Given the description of an element on the screen output the (x, y) to click on. 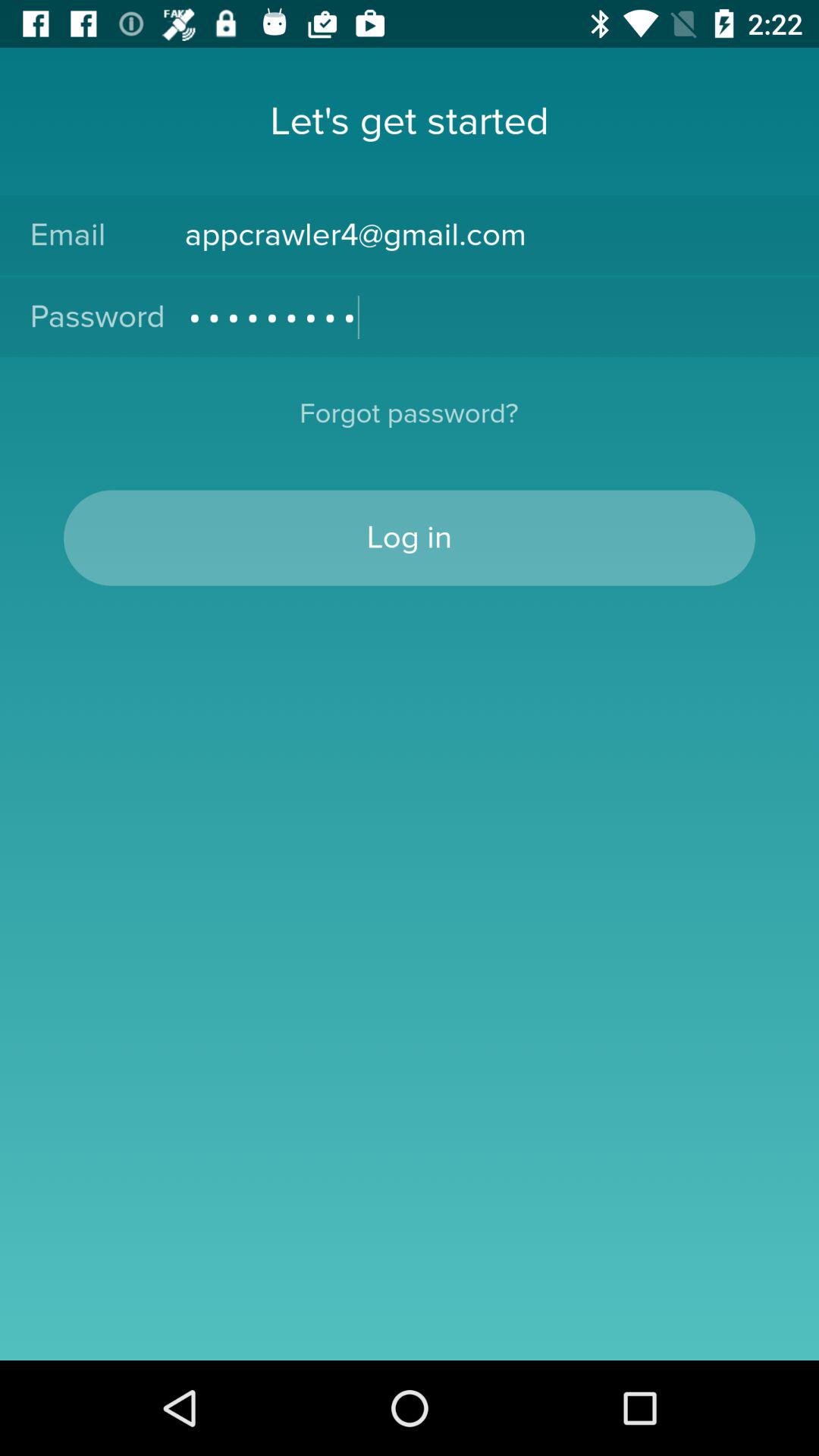
scroll to the crowd3116 icon (486, 316)
